Given the description of an element on the screen output the (x, y) to click on. 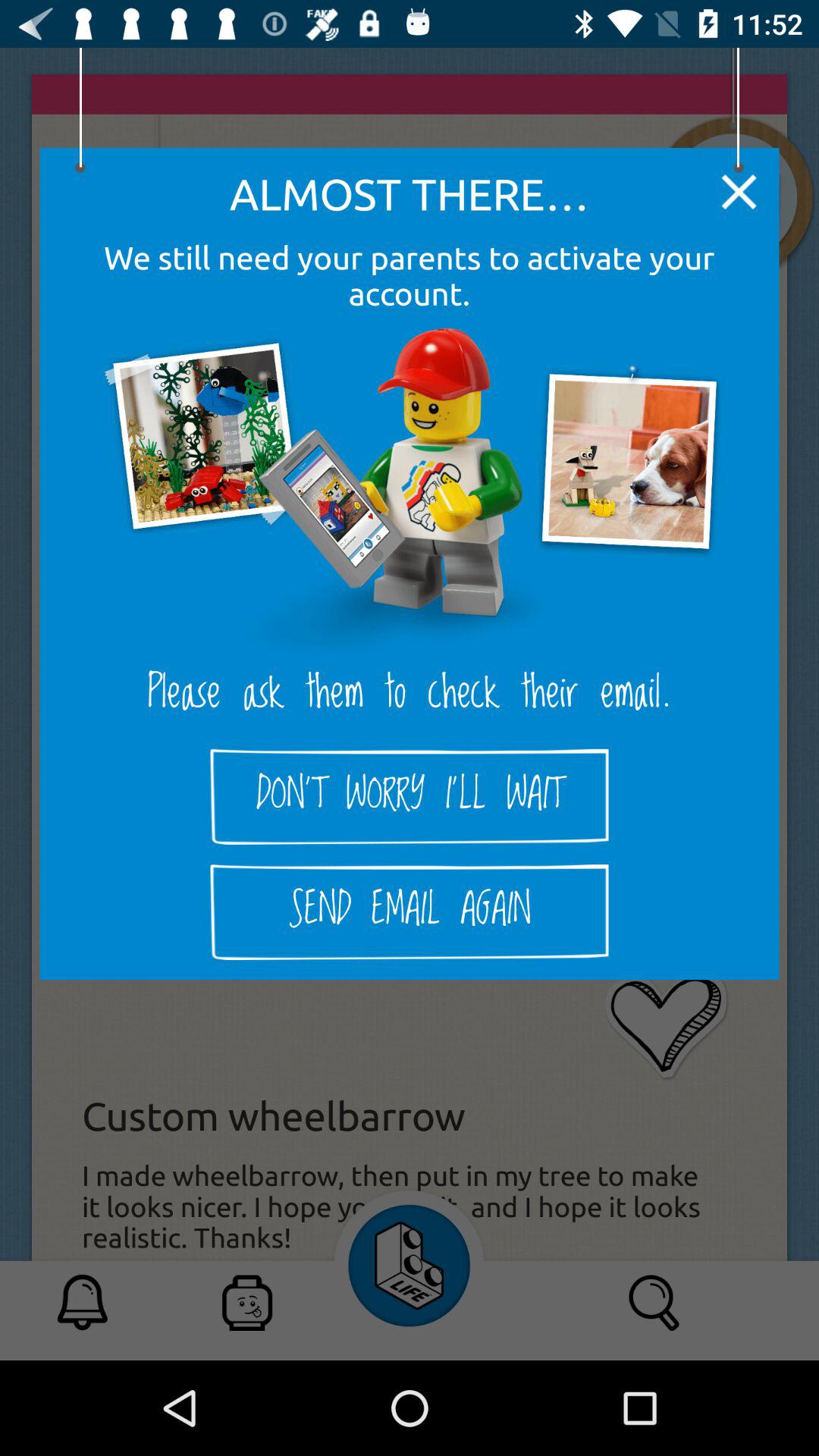
open item above we still need item (738, 191)
